Given the description of an element on the screen output the (x, y) to click on. 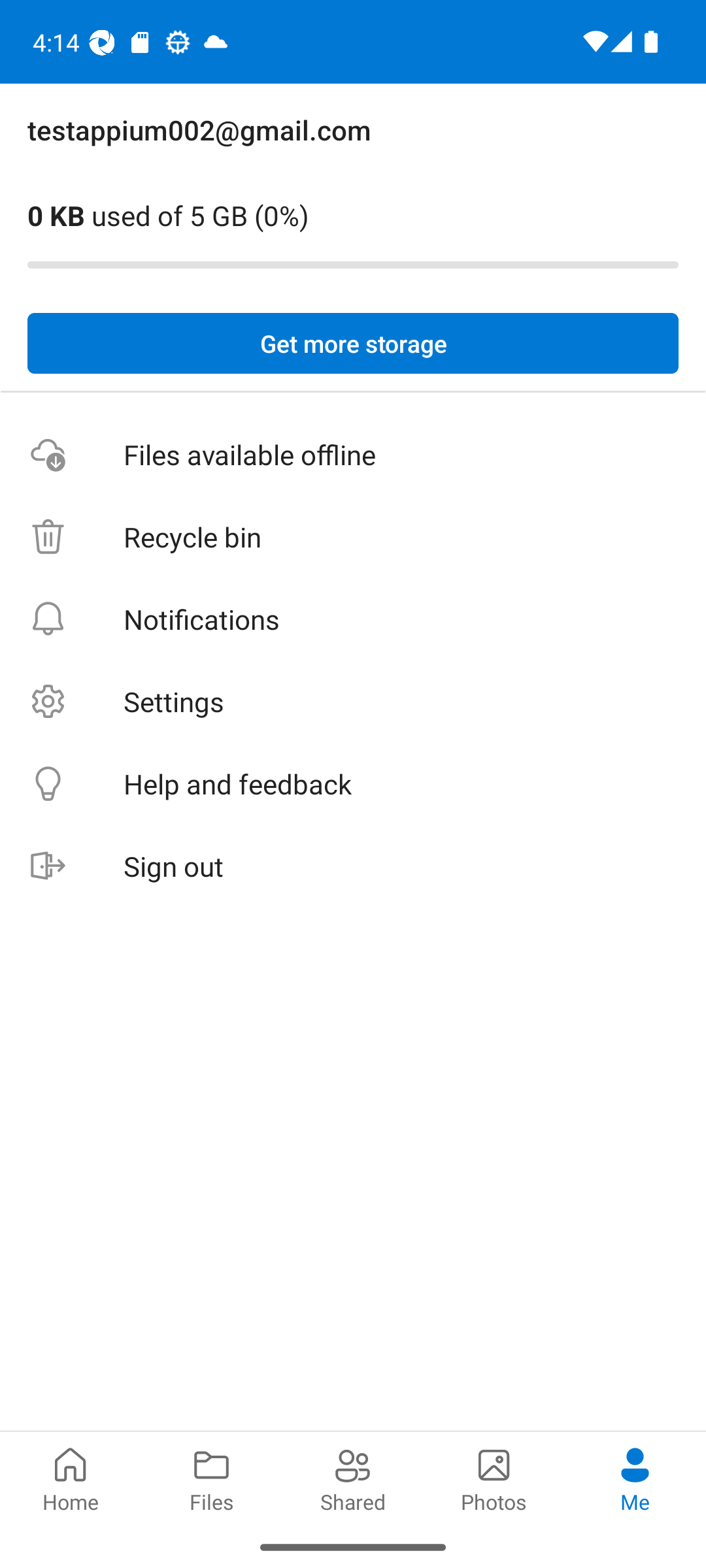
Get more storage (352, 343)
Files available offline (353, 454)
Recycle bin (353, 536)
Notifications (353, 619)
Settings (353, 701)
Help and feedback (353, 783)
Sign out (353, 865)
Home pivot Home (70, 1478)
Files pivot Files (211, 1478)
Shared pivot Shared (352, 1478)
Photos pivot Photos (493, 1478)
